Given the description of an element on the screen output the (x, y) to click on. 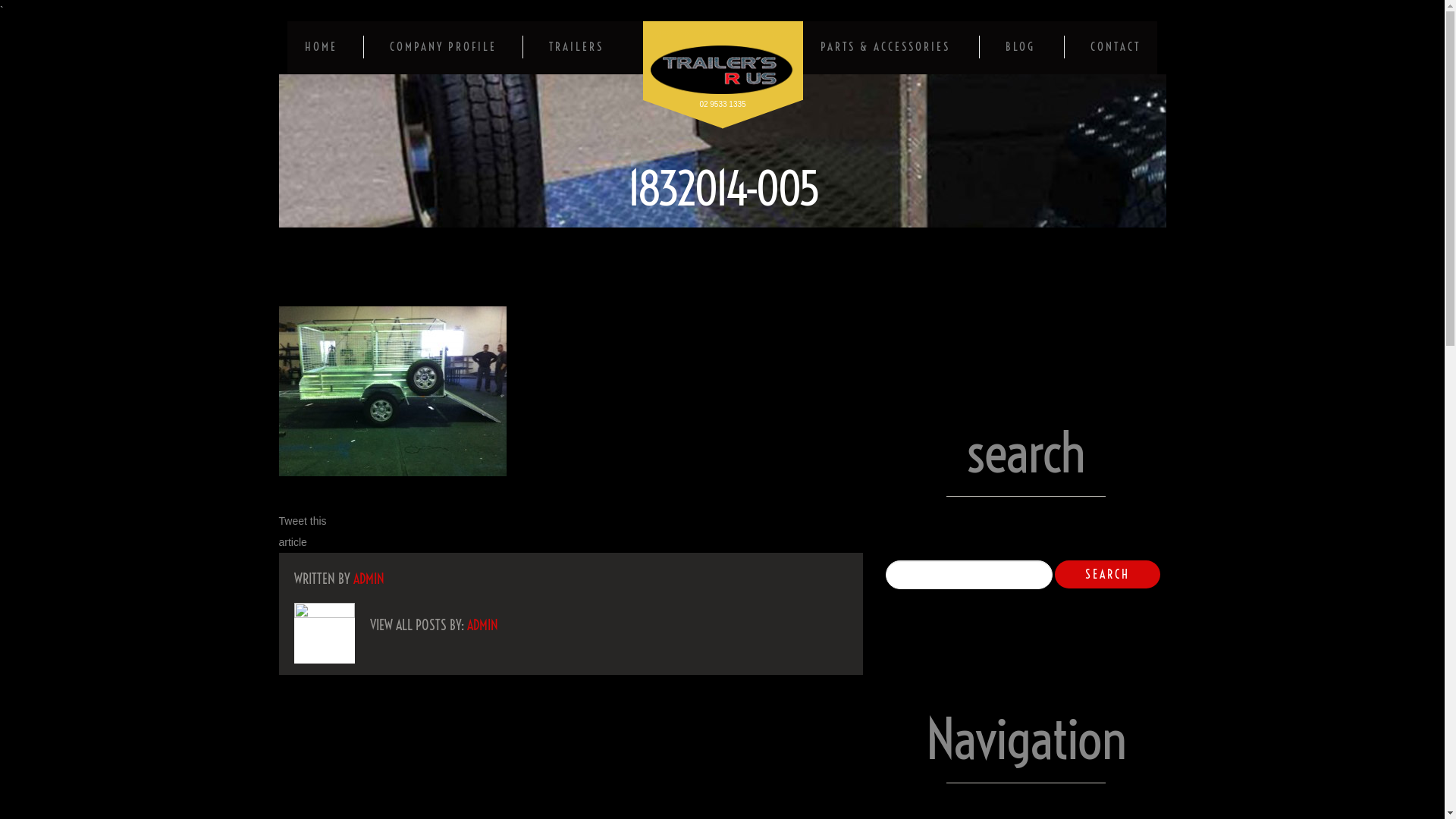
COMPANY PROFILE Element type: text (442, 46)
ADMIN Element type: text (368, 578)
BLOG Element type: text (1020, 46)
PARTS & ACCESSORIES Element type: text (885, 46)
search Element type: text (1107, 574)
HOME Element type: text (320, 46)
CONTACT Element type: text (1115, 46)
TRAILERS Element type: text (576, 46)
ADMIN Element type: text (482, 624)
02 9533 1335 Element type: hover (722, 69)
Tweet this article Element type: text (302, 531)
